Given the description of an element on the screen output the (x, y) to click on. 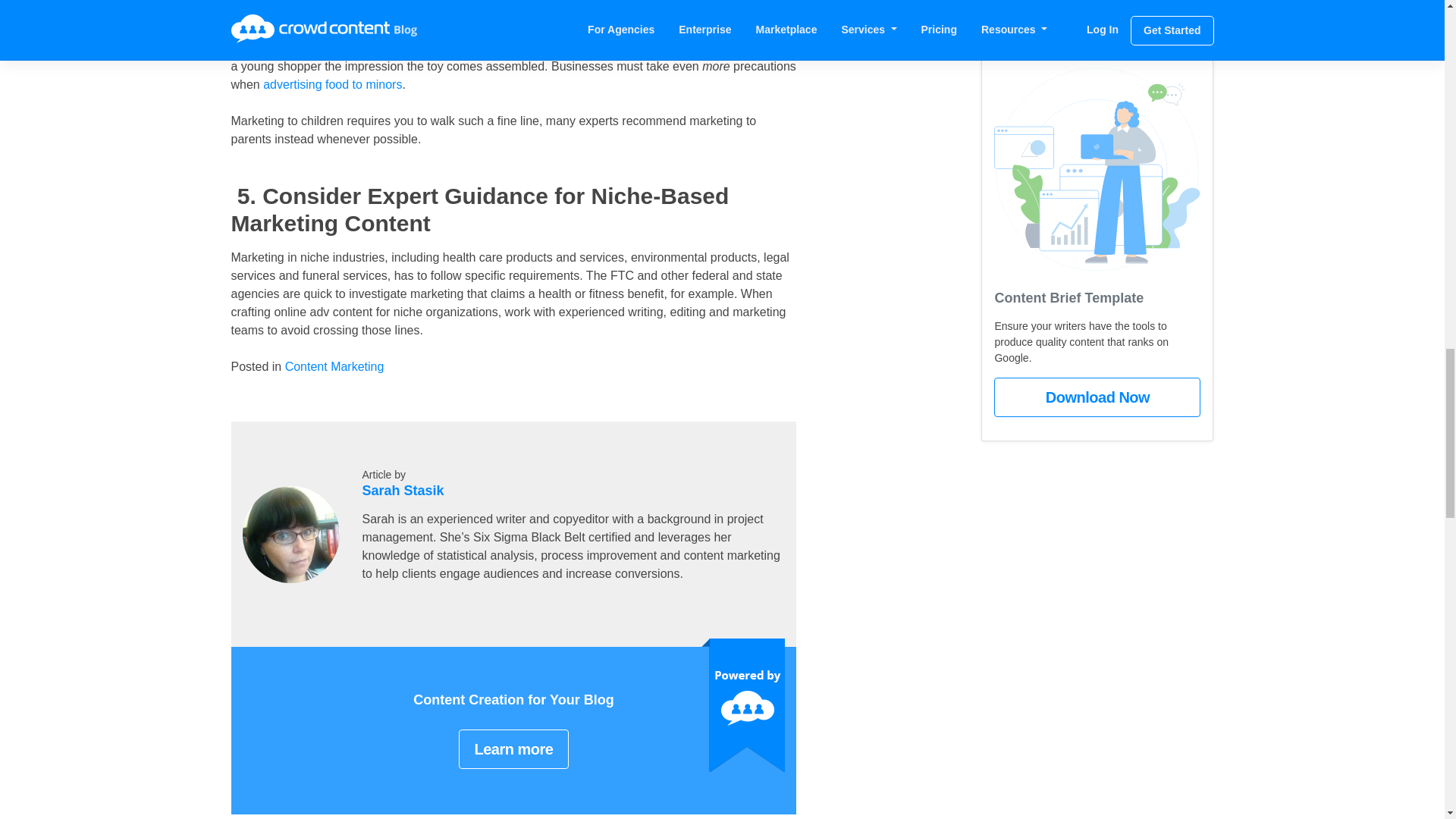
Learn more (513, 749)
advertising food to minors (332, 83)
Sarah Stasik (403, 490)
Content Marketing (334, 366)
